Given the description of an element on the screen output the (x, y) to click on. 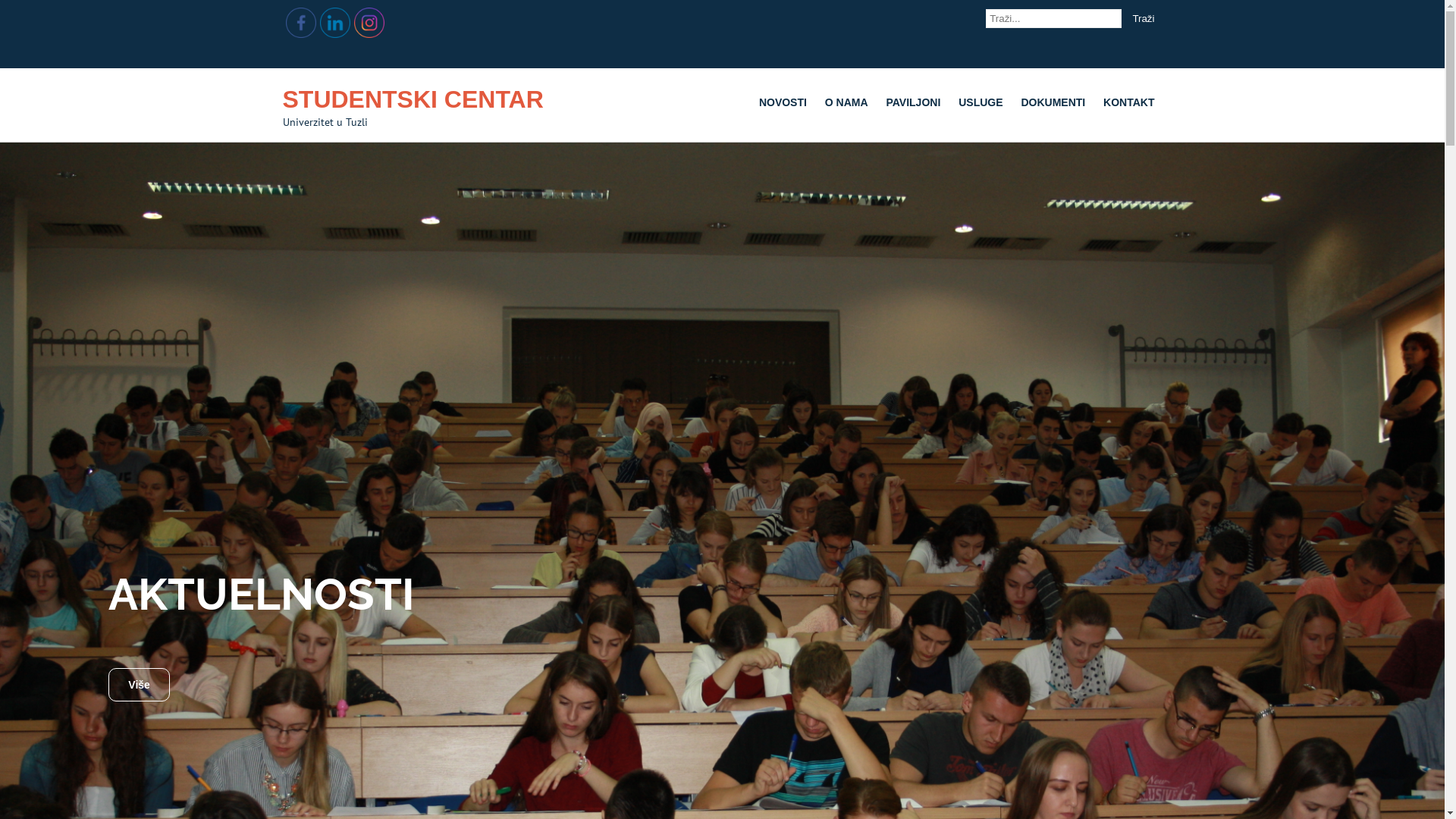
NOVOSTI Element type: text (782, 102)
DOKUMENTI Element type: text (1052, 102)
USLUGE Element type: text (980, 102)
Facebook Element type: hover (300, 22)
LinkedIn Element type: hover (335, 22)
STUDENTSKI CENTAR Element type: text (412, 98)
KONTAKT Element type: text (1128, 102)
O NAMA Element type: text (846, 102)
STUDENTSKI CENTAR Element type: text (669, 104)
PAVILJONI Element type: text (912, 102)
